Given the description of an element on the screen output the (x, y) to click on. 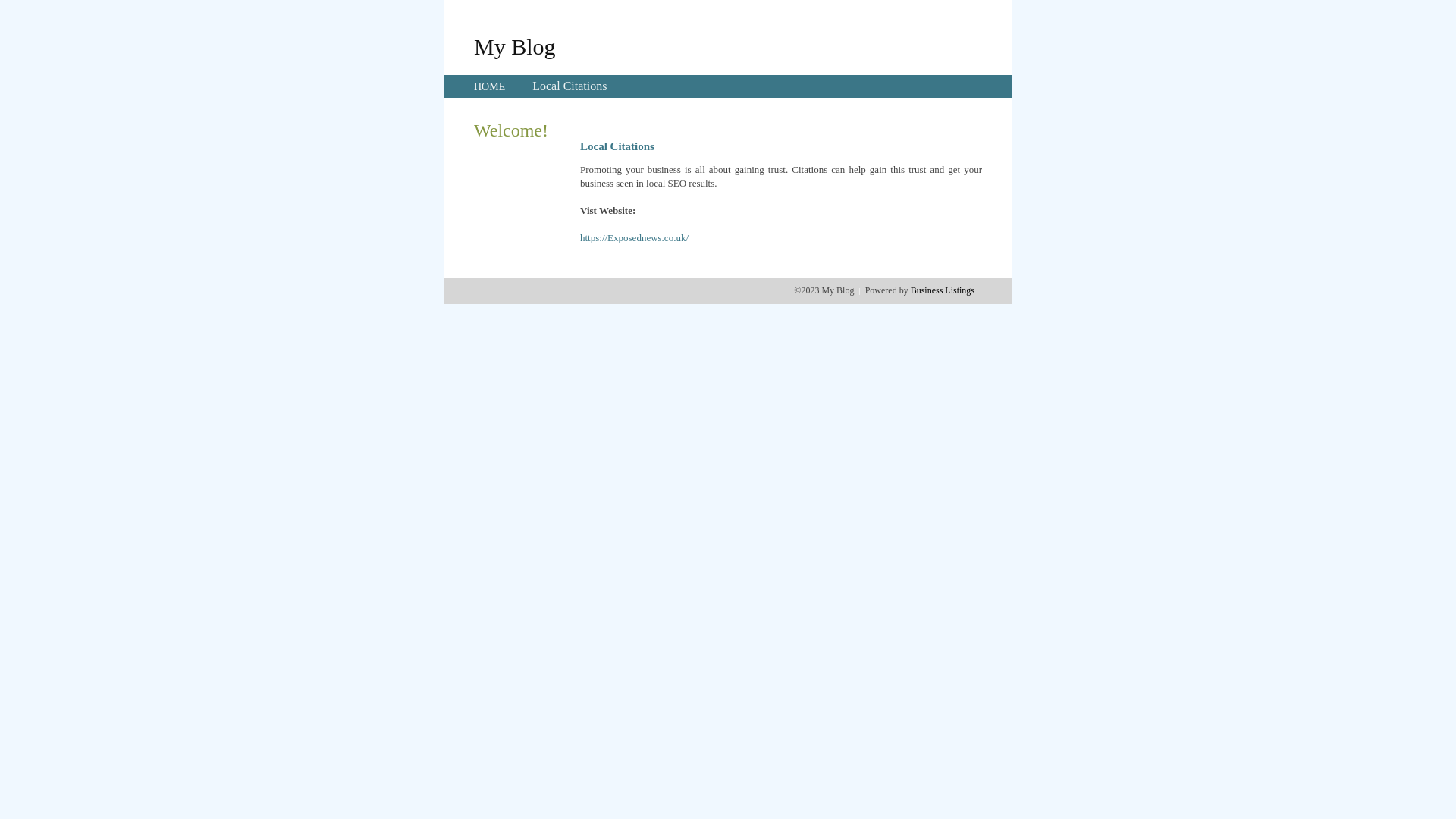
Local Citations Element type: text (569, 85)
Business Listings Element type: text (942, 290)
HOME Element type: text (489, 86)
https://Exposednews.co.uk/ Element type: text (634, 237)
My Blog Element type: text (514, 46)
